Given the description of an element on the screen output the (x, y) to click on. 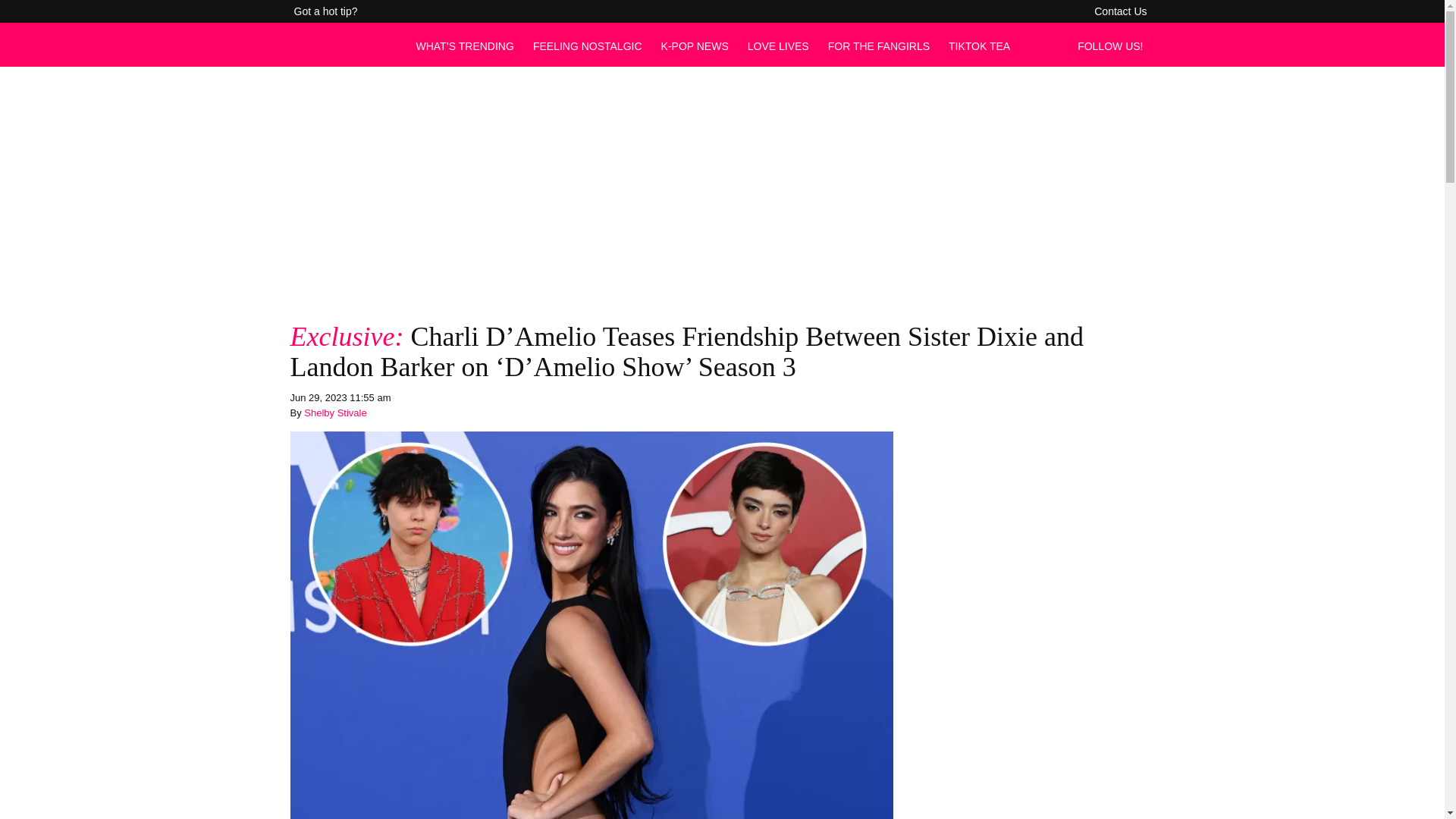
FOLLOW US! (1114, 45)
FEELING NOSTALGIC (587, 46)
Got a hot tip? (325, 11)
TIKTOK TEA (979, 46)
Shelby Stivale (335, 412)
K-POP NEWS (695, 46)
Home (343, 52)
Posts by Shelby Stivale (335, 412)
Contact Us (1120, 11)
LOVE LIVES (778, 46)
FOR THE FANGIRLS (879, 46)
